Given the description of an element on the screen output the (x, y) to click on. 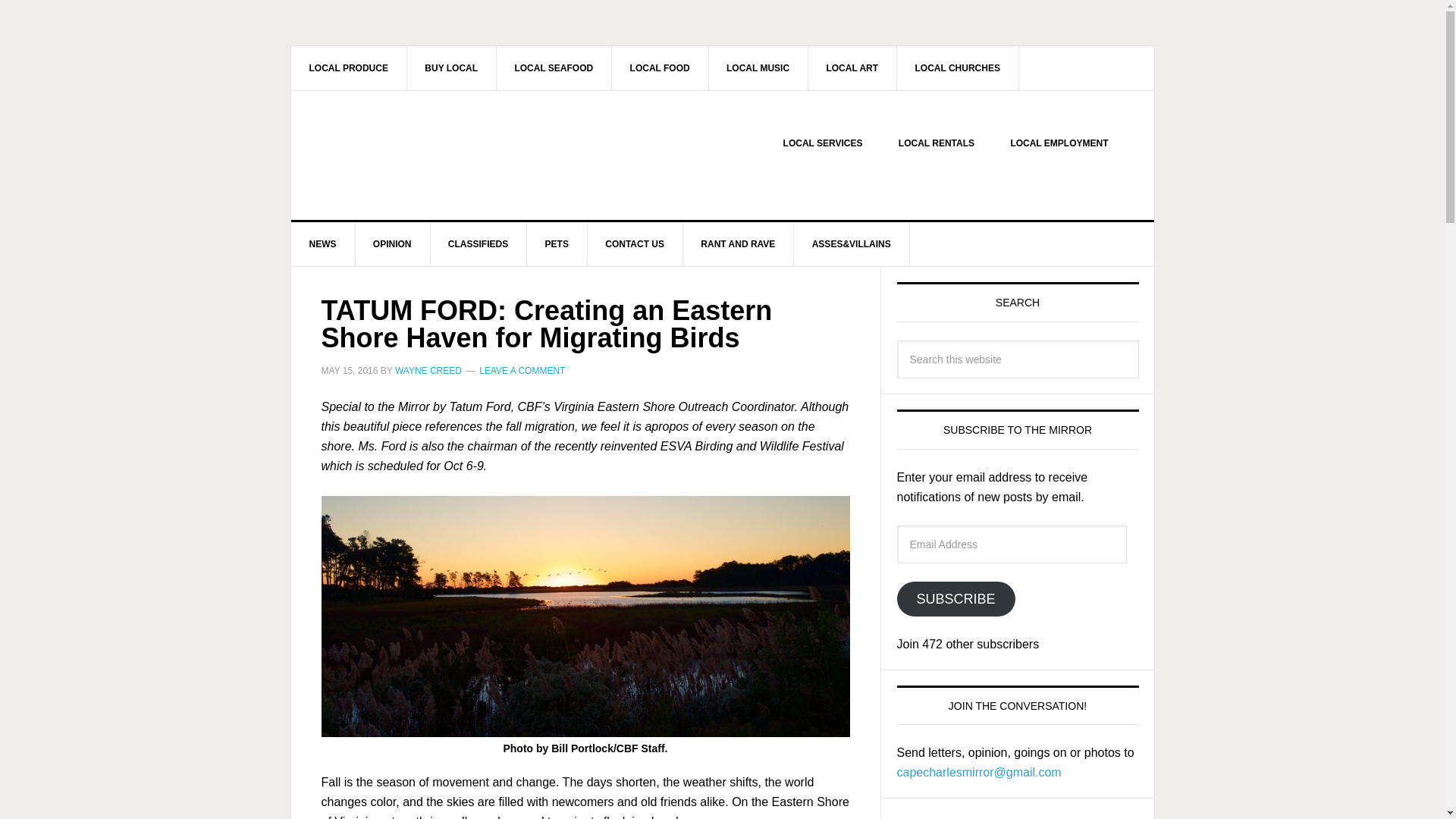
CONTACT US (634, 243)
OPINION (392, 243)
LOCAL ART (852, 67)
LOCAL PRODUCE (349, 67)
LOCAL FOOD (660, 67)
LOCAL MUSIC (757, 67)
RANT AND RAVE (737, 243)
LOCAL SERVICES (822, 143)
NEWS (323, 243)
